Given the description of an element on the screen output the (x, y) to click on. 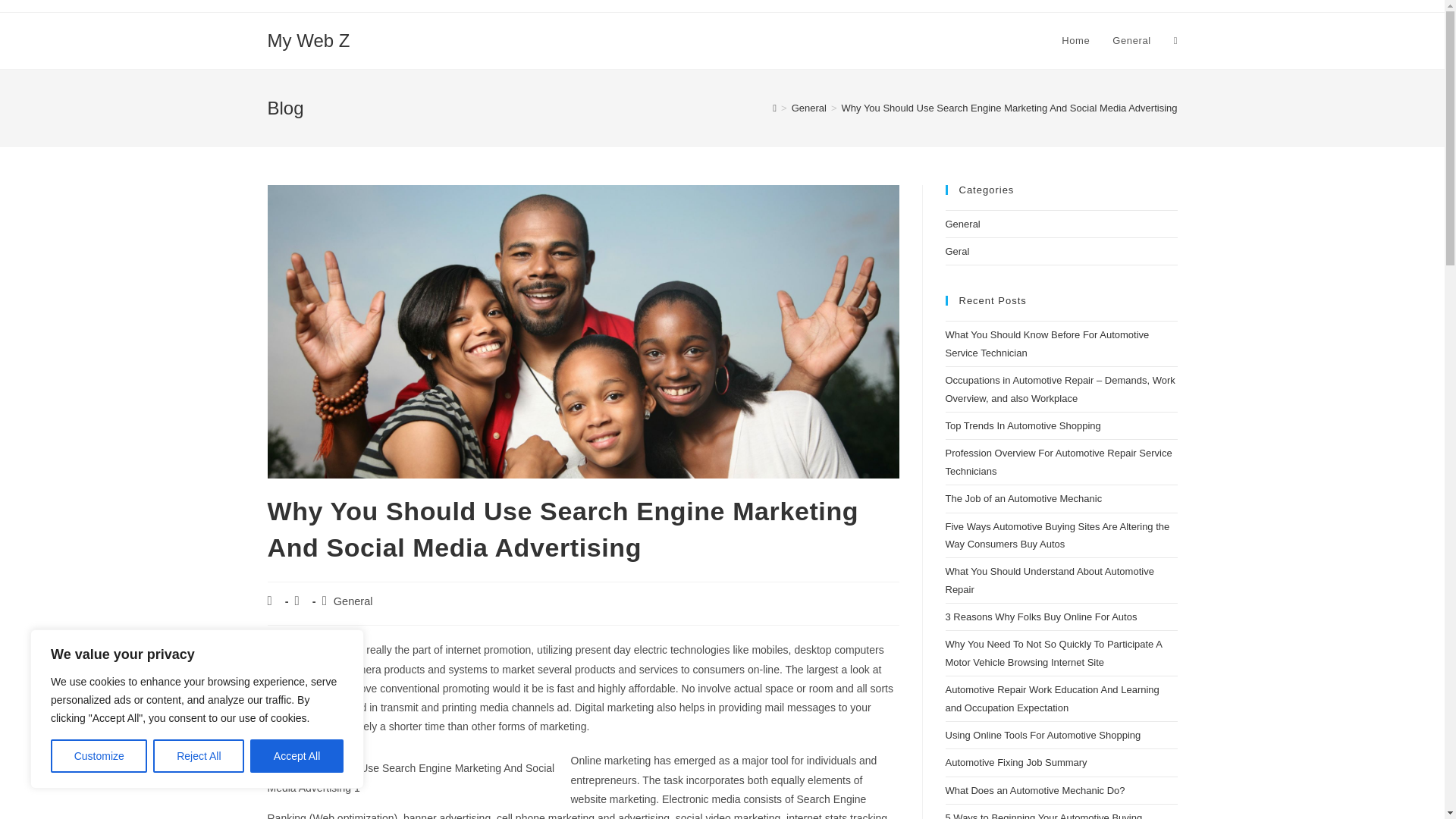
My Web Z (307, 40)
General (809, 107)
Home (1074, 40)
Reject All (198, 756)
General (352, 601)
General (1130, 40)
Accept All (296, 756)
Customize (98, 756)
